Given the description of an element on the screen output the (x, y) to click on. 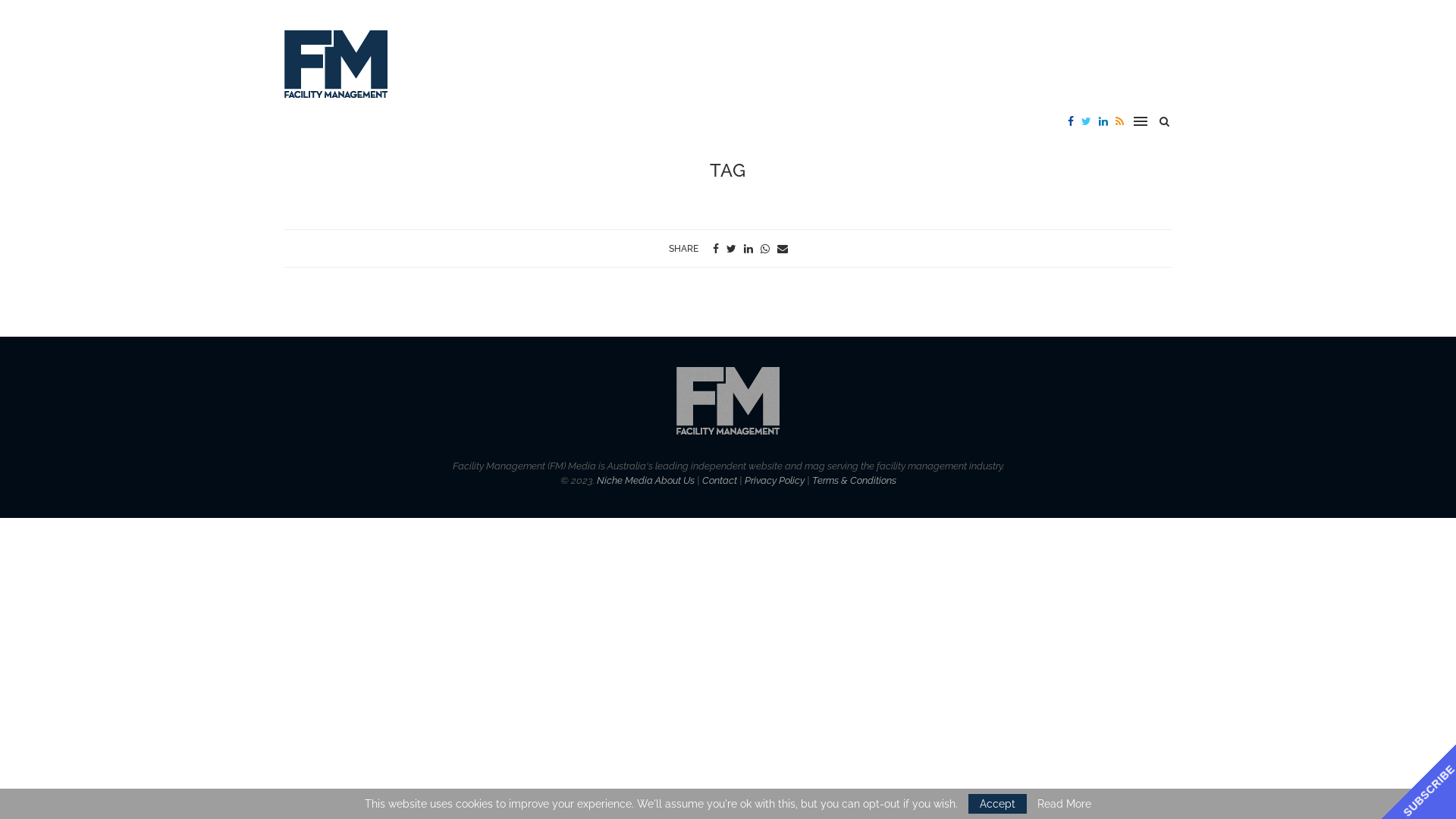
Accept Element type: text (997, 803)
Terms & Conditions Element type: text (853, 480)
Read More Element type: text (1064, 803)
Privacy Policy Element type: text (774, 480)
Niche Media Element type: text (624, 480)
About Us Element type: text (674, 480)
Contact Element type: text (719, 480)
